Given the description of an element on the screen output the (x, y) to click on. 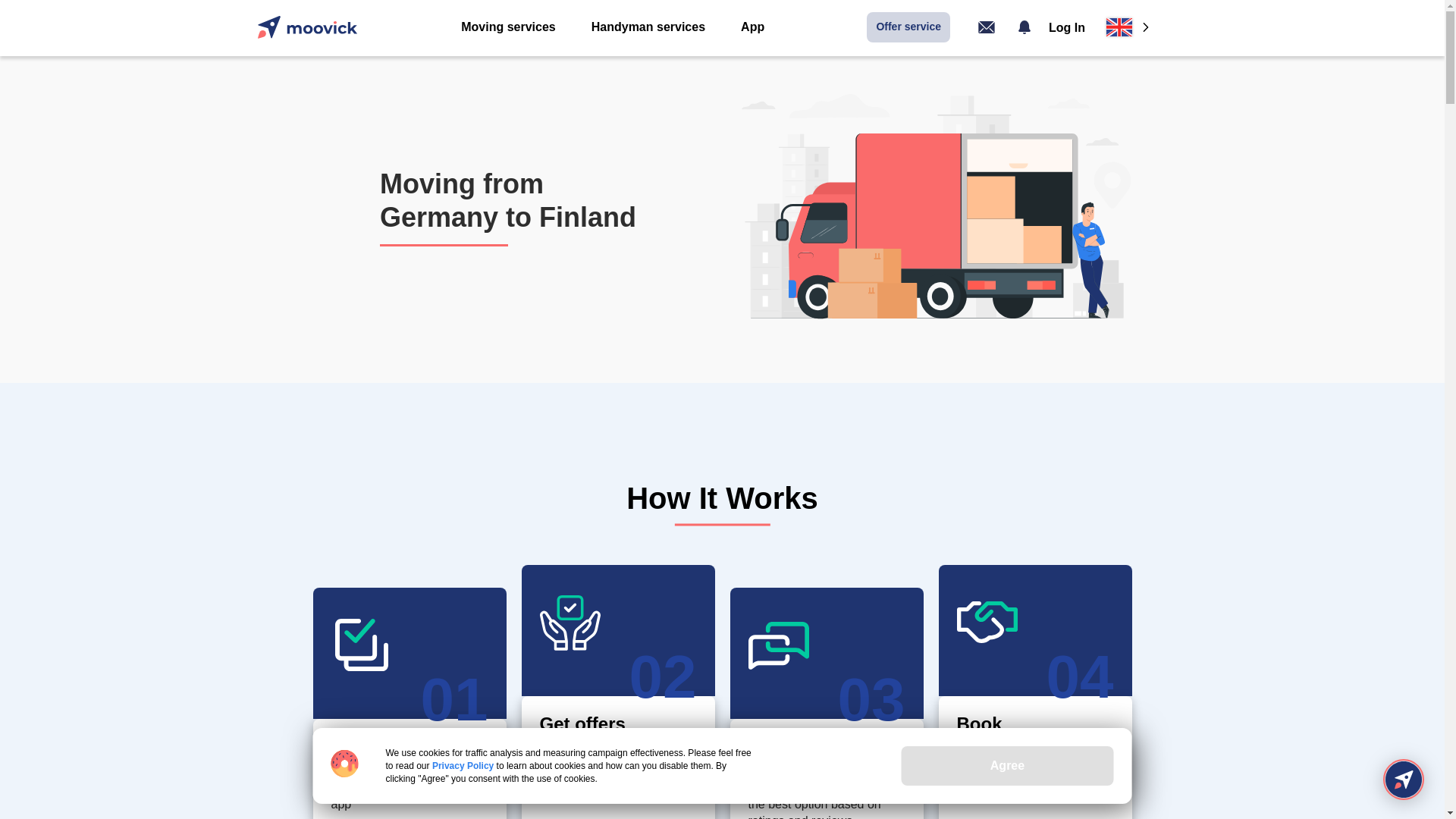
Offer service (908, 27)
